Given the description of an element on the screen output the (x, y) to click on. 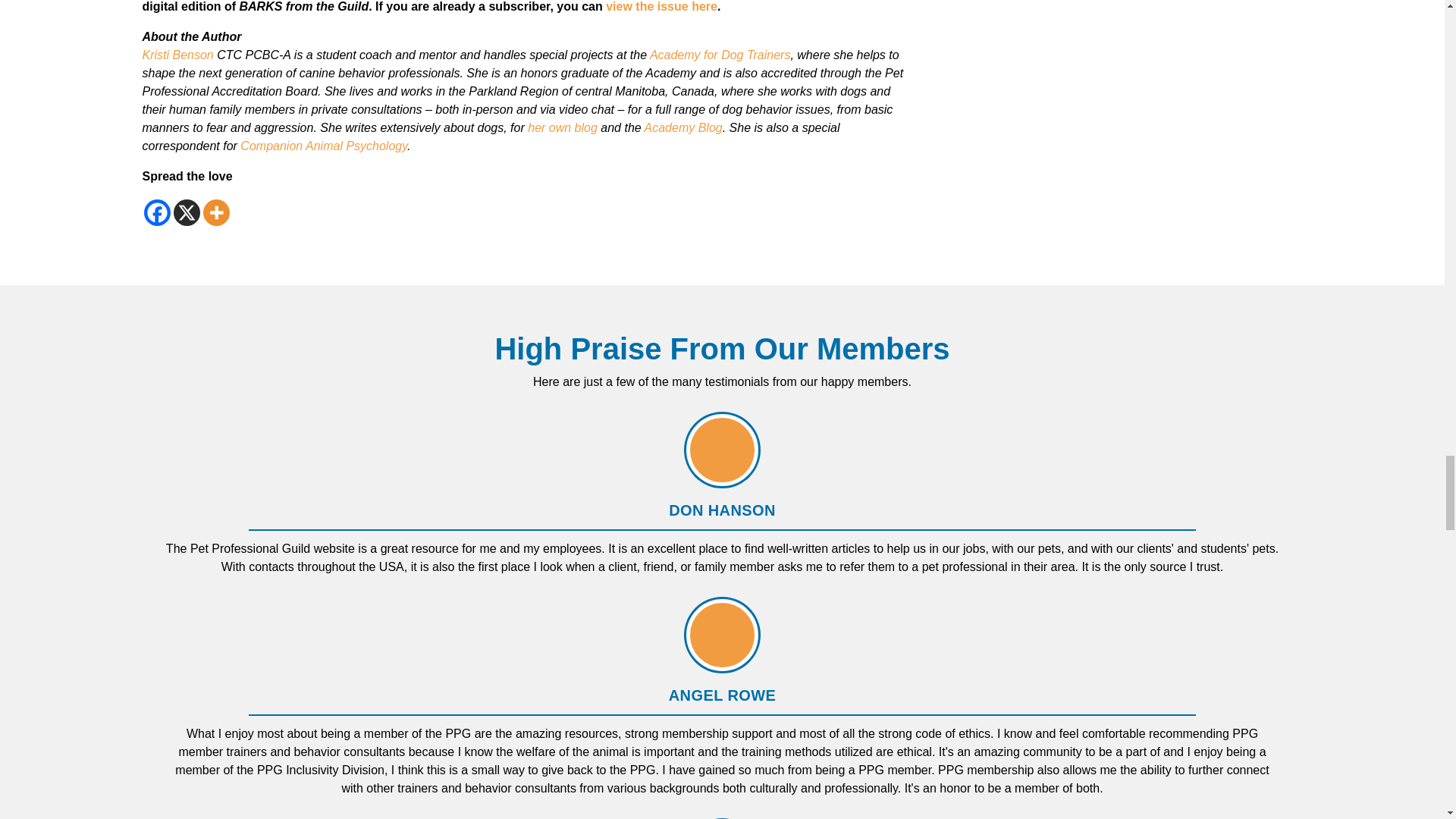
More (216, 212)
Facebook (157, 212)
X (186, 212)
